Given the description of an element on the screen output the (x, y) to click on. 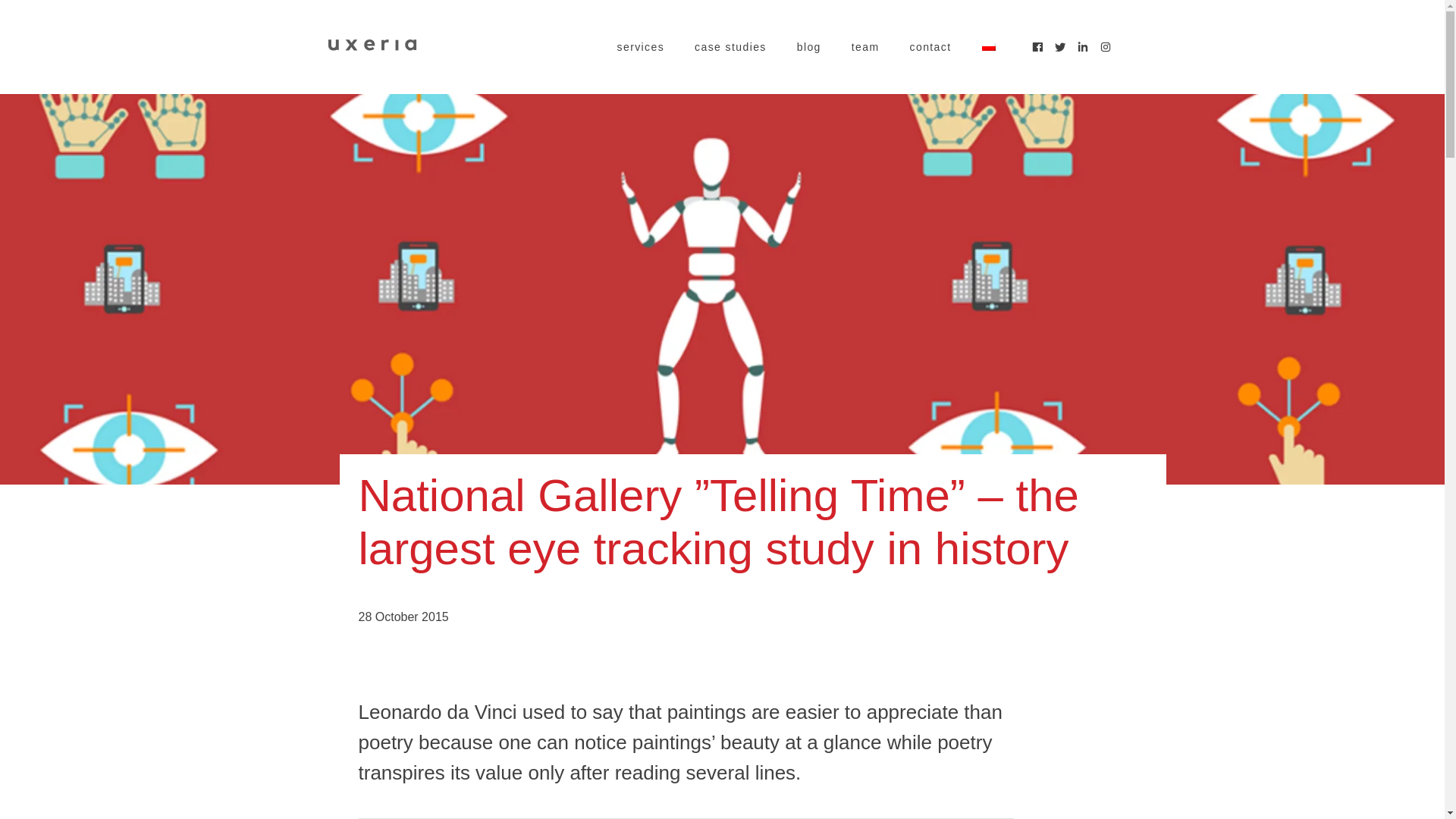
case studies (730, 46)
team (865, 46)
contact (931, 46)
blog (808, 46)
services (641, 46)
